Given the description of an element on the screen output the (x, y) to click on. 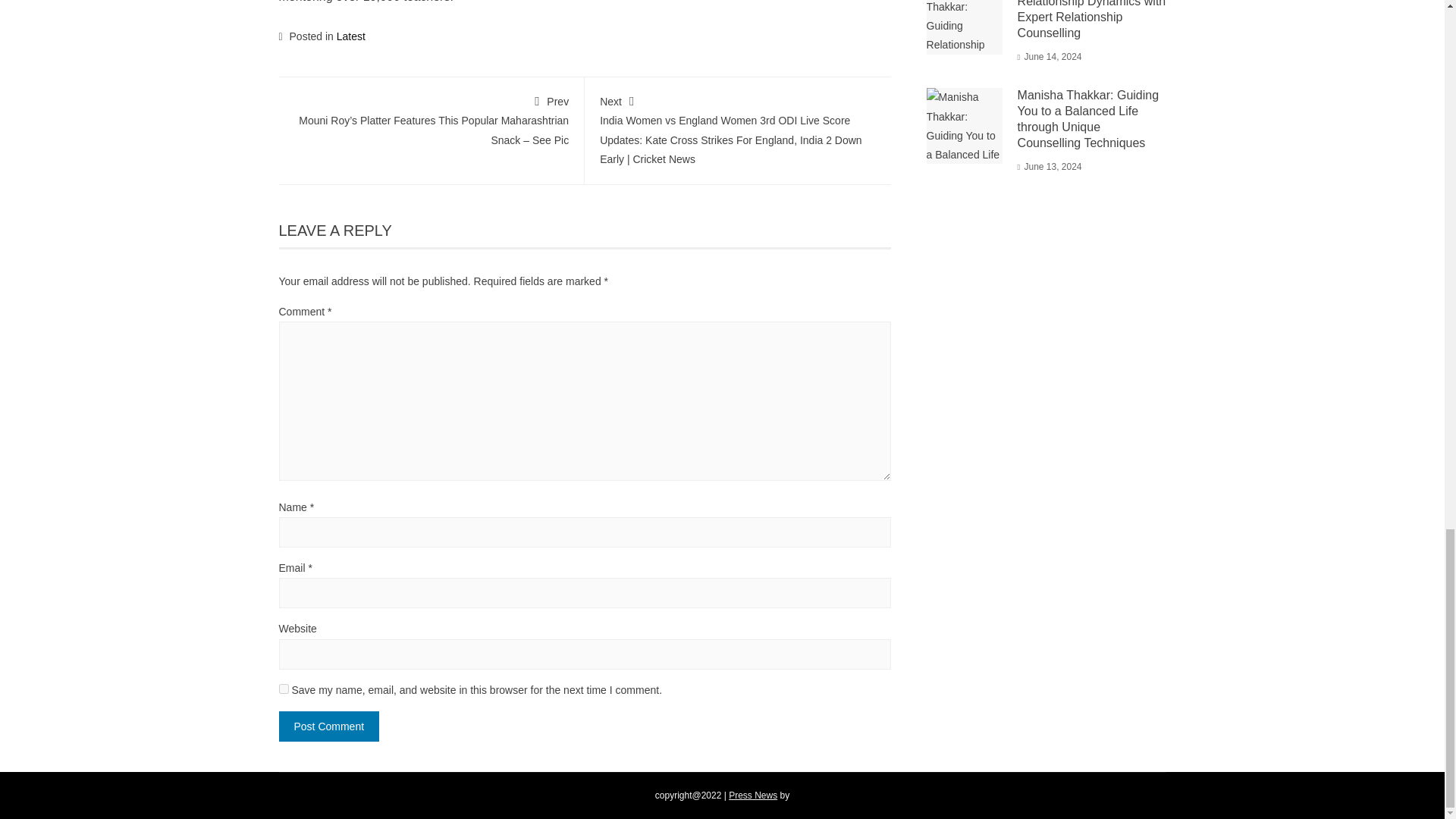
yes (283, 688)
Post Comment (329, 726)
Post Comment (329, 726)
Download Press News (753, 795)
Latest (350, 36)
Press News (753, 795)
